Given the description of an element on the screen output the (x, y) to click on. 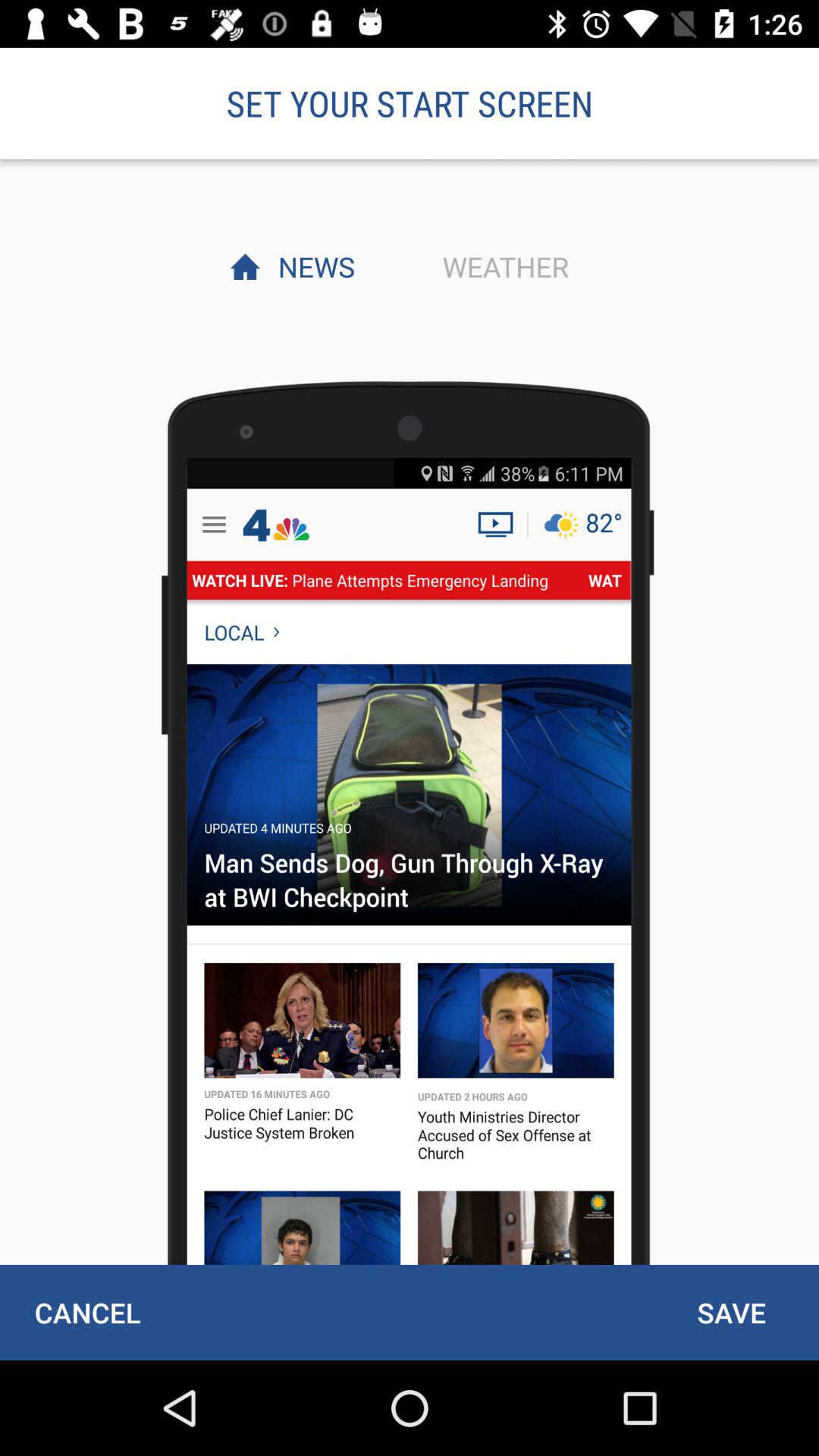
flip until the set your start item (409, 103)
